Given the description of an element on the screen output the (x, y) to click on. 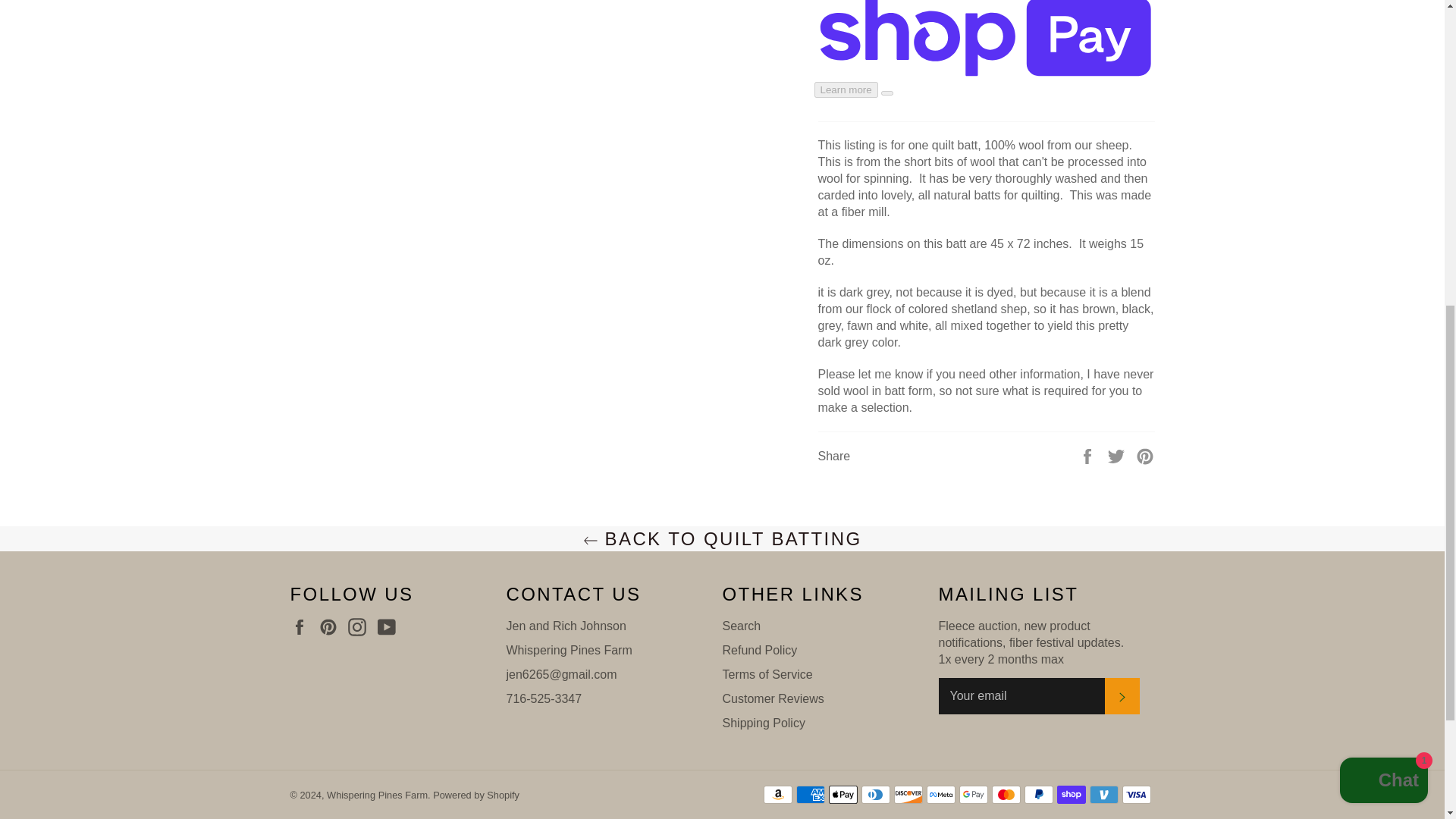
Whispering Pines Farm on Instagram (360, 627)
Tweet on Twitter (1117, 455)
Whispering Pines Farm on Pinterest (331, 627)
Whispering Pines Farm on YouTube (390, 627)
Shopify online store chat (1383, 200)
Pin on Pinterest (1144, 455)
tel:7165253347 (544, 698)
Whispering Pines Farm on Facebook (302, 627)
Share on Facebook (1088, 455)
